Given the description of an element on the screen output the (x, y) to click on. 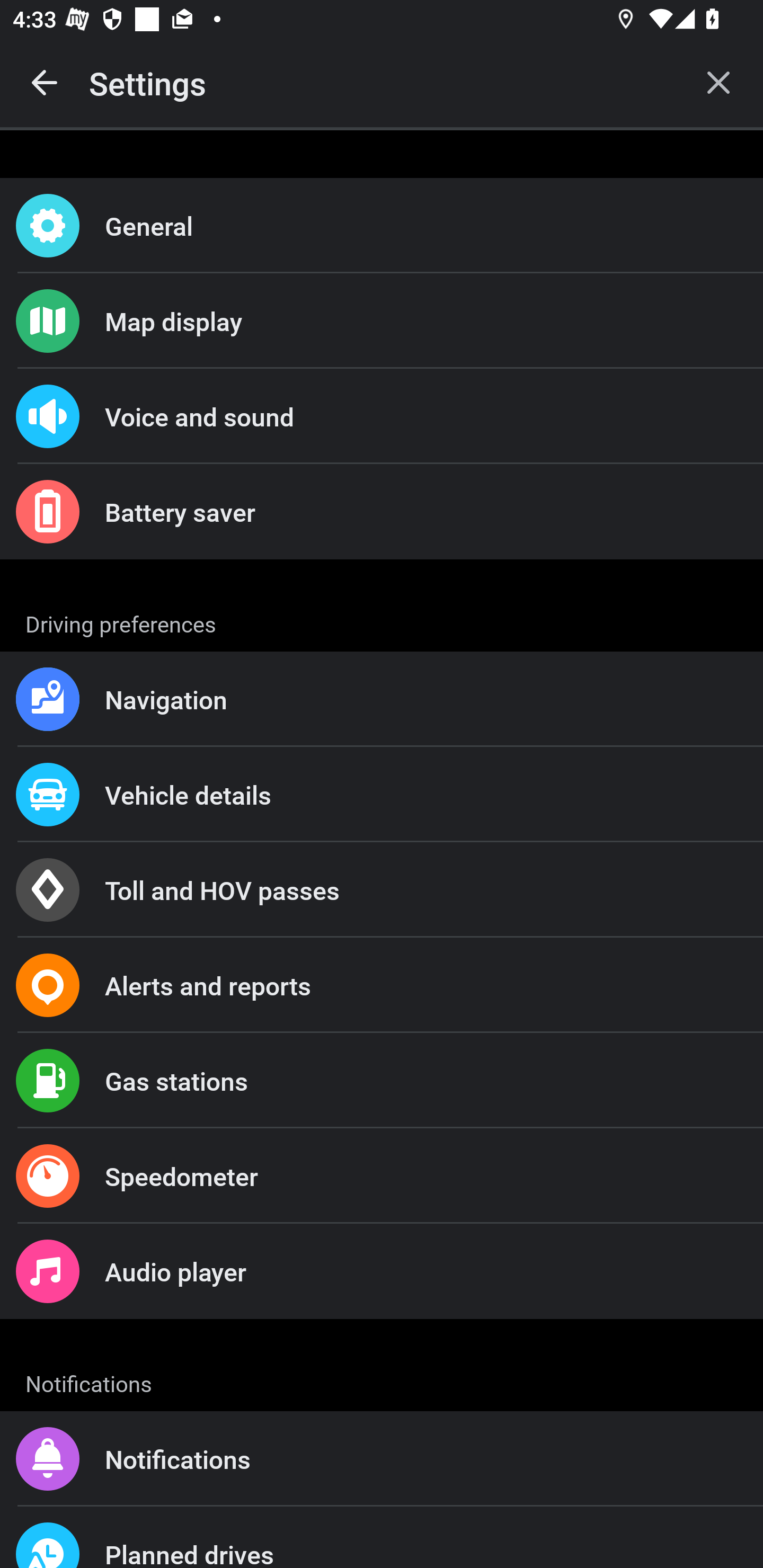
General (381, 225)
Map display (381, 320)
Voice and sound (381, 416)
Battery saver (381, 511)
ACTION_CELL_ICON Settings ACTION_CELL_TEXT (381, 620)
Navigation (381, 699)
Vehicle details (381, 794)
Toll and HOV passes (381, 889)
Alerts and reports (381, 985)
Gas stations (381, 1080)
Speedometer (381, 1175)
Audio player (381, 1270)
